Given the description of an element on the screen output the (x, y) to click on. 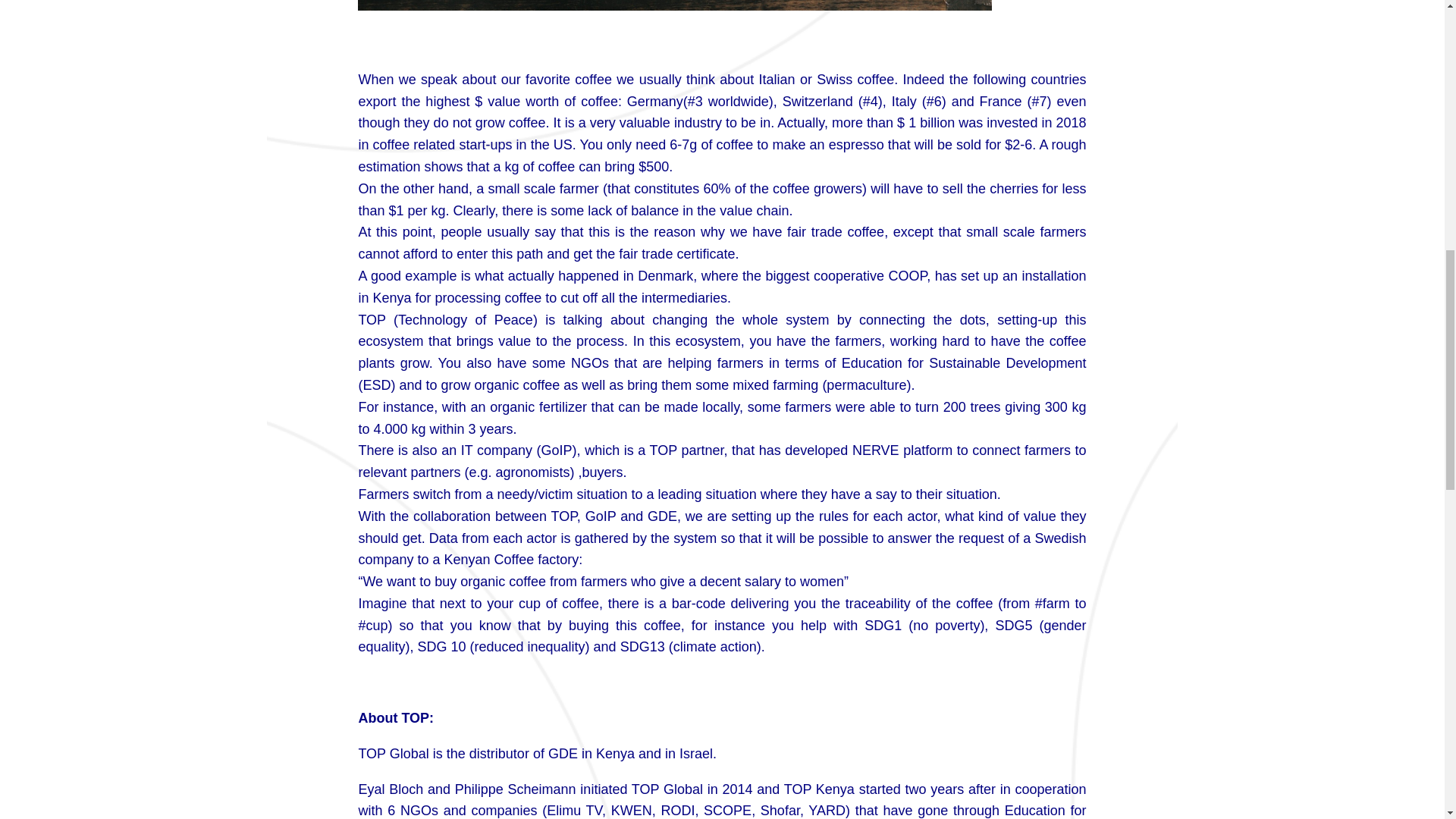
GoIP (600, 516)
GDE (662, 516)
TOP (563, 516)
